Given the description of an element on the screen output the (x, y) to click on. 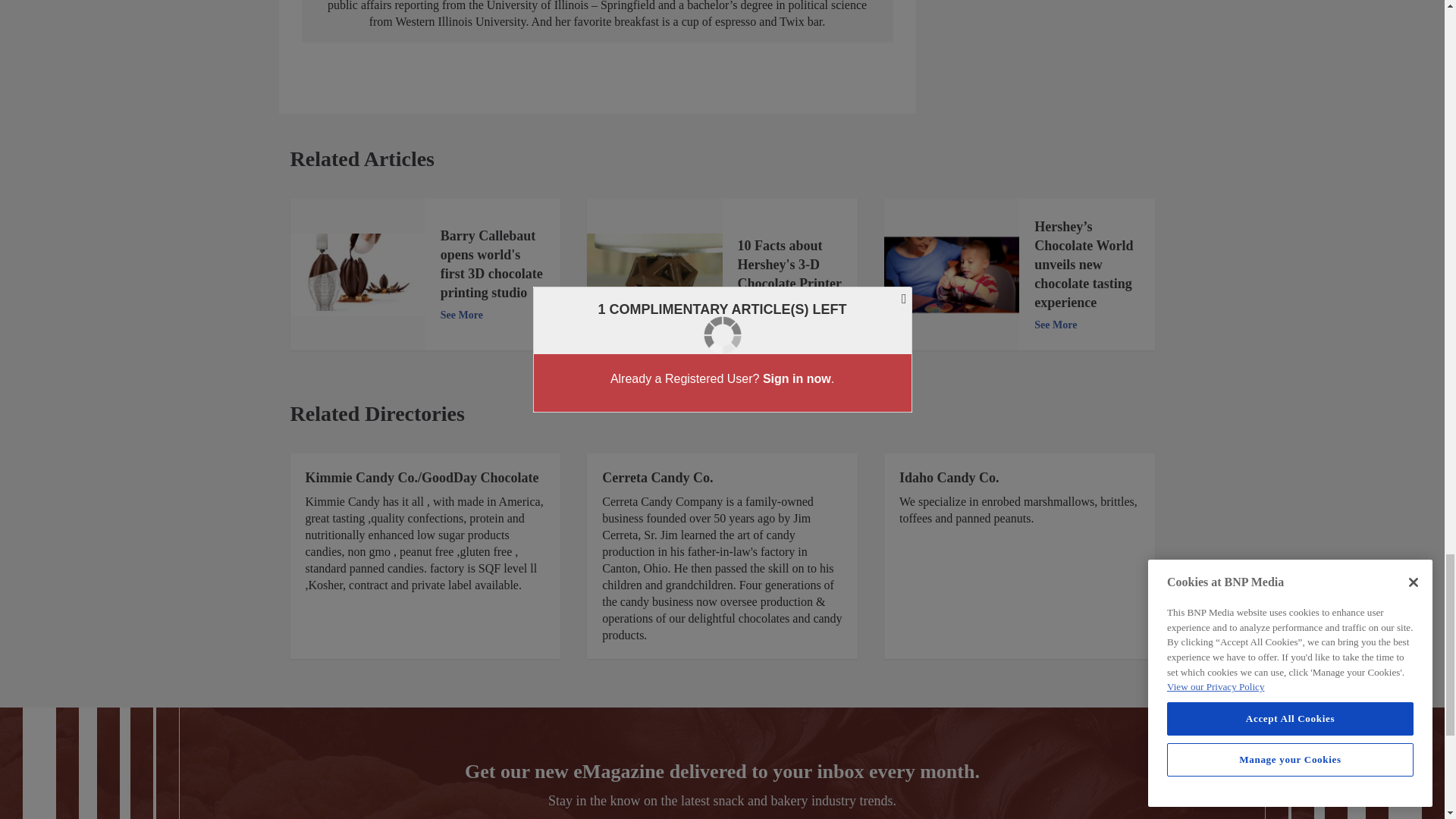
Hershey Chocolate Tasting Experience (951, 274)
Barry Callebaut 3D printing (357, 274)
